Given the description of an element on the screen output the (x, y) to click on. 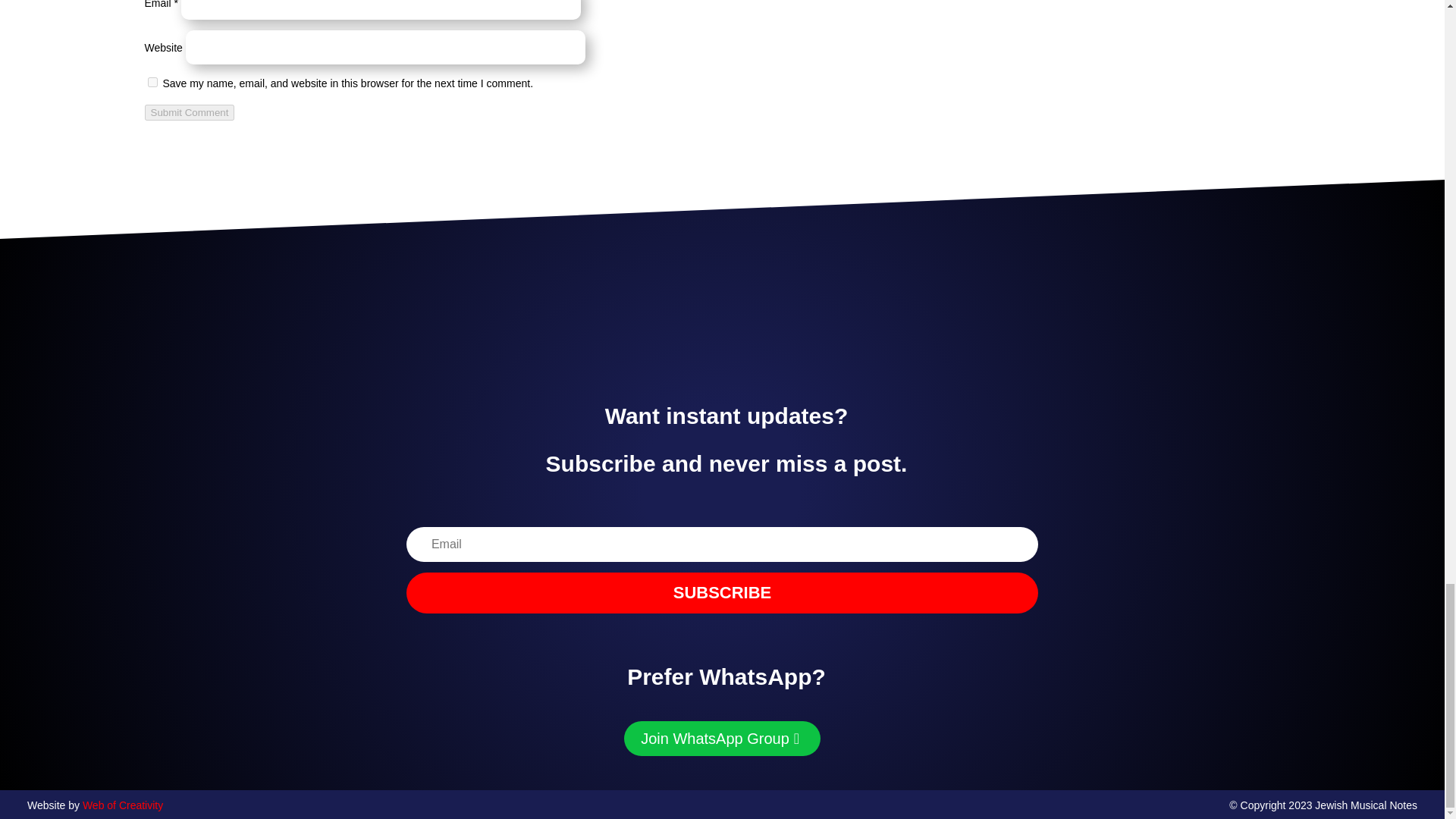
Submit Comment (189, 112)
logowhite (722, 321)
yes (152, 81)
